Given the description of an element on the screen output the (x, y) to click on. 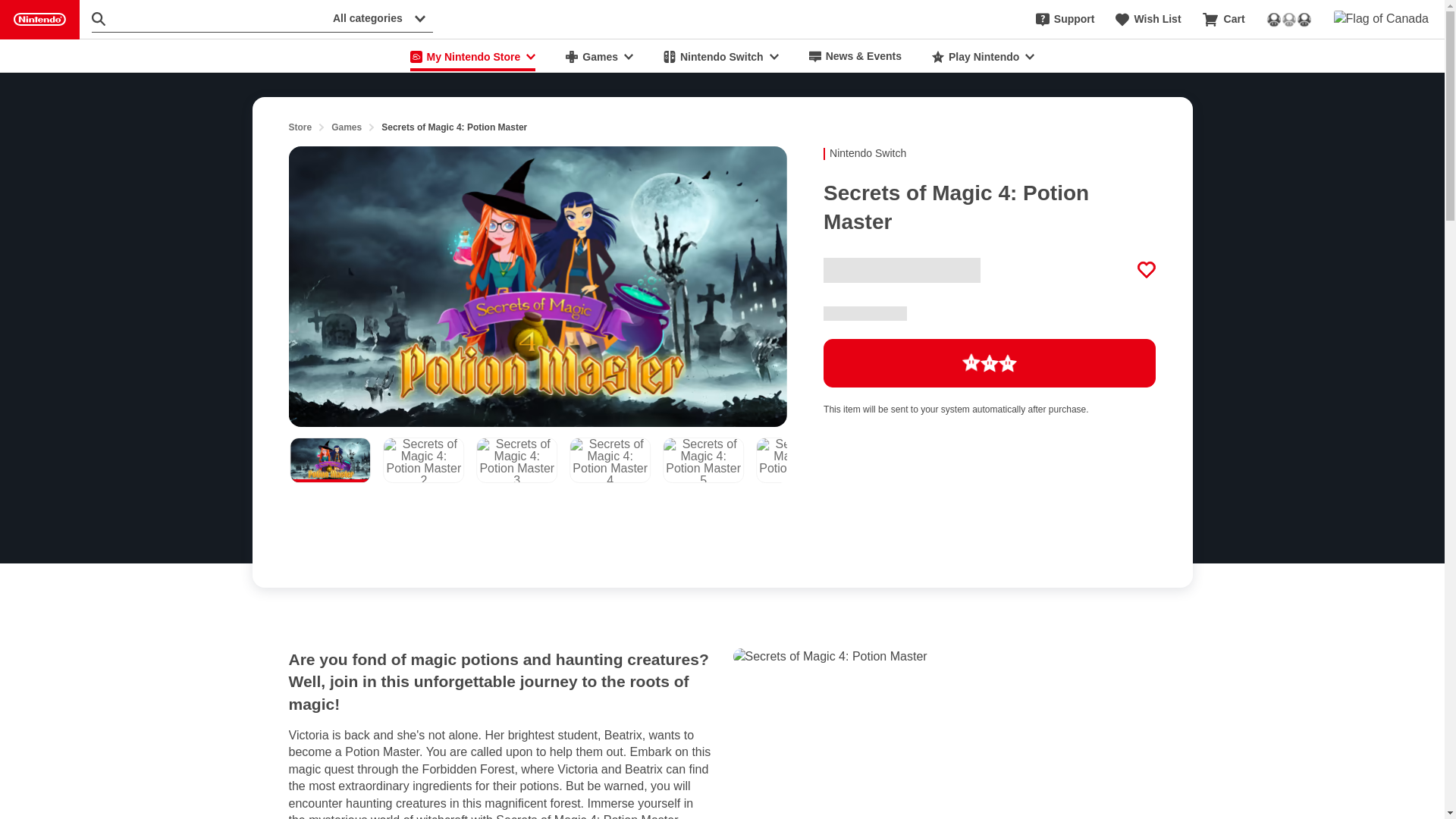
Wish List (1147, 19)
Games (599, 56)
Loading (990, 363)
Games (346, 127)
Store (299, 127)
Play Nintendo (983, 56)
Nintendo (40, 19)
My Nintendo Store (472, 56)
Support (1064, 19)
Add to Wish List (1146, 270)
